Given the description of an element on the screen output the (x, y) to click on. 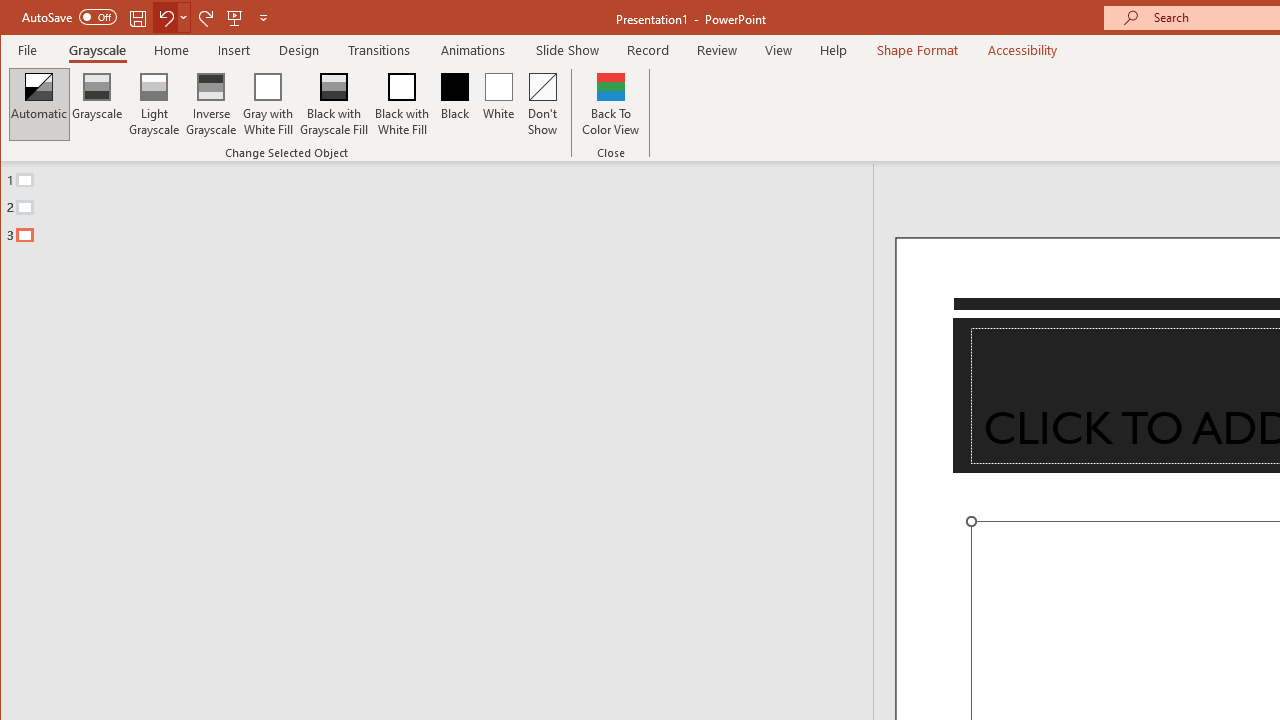
Black with Grayscale Fill (334, 104)
Automatic (39, 104)
Don't Show (543, 104)
